Given the description of an element on the screen output the (x, y) to click on. 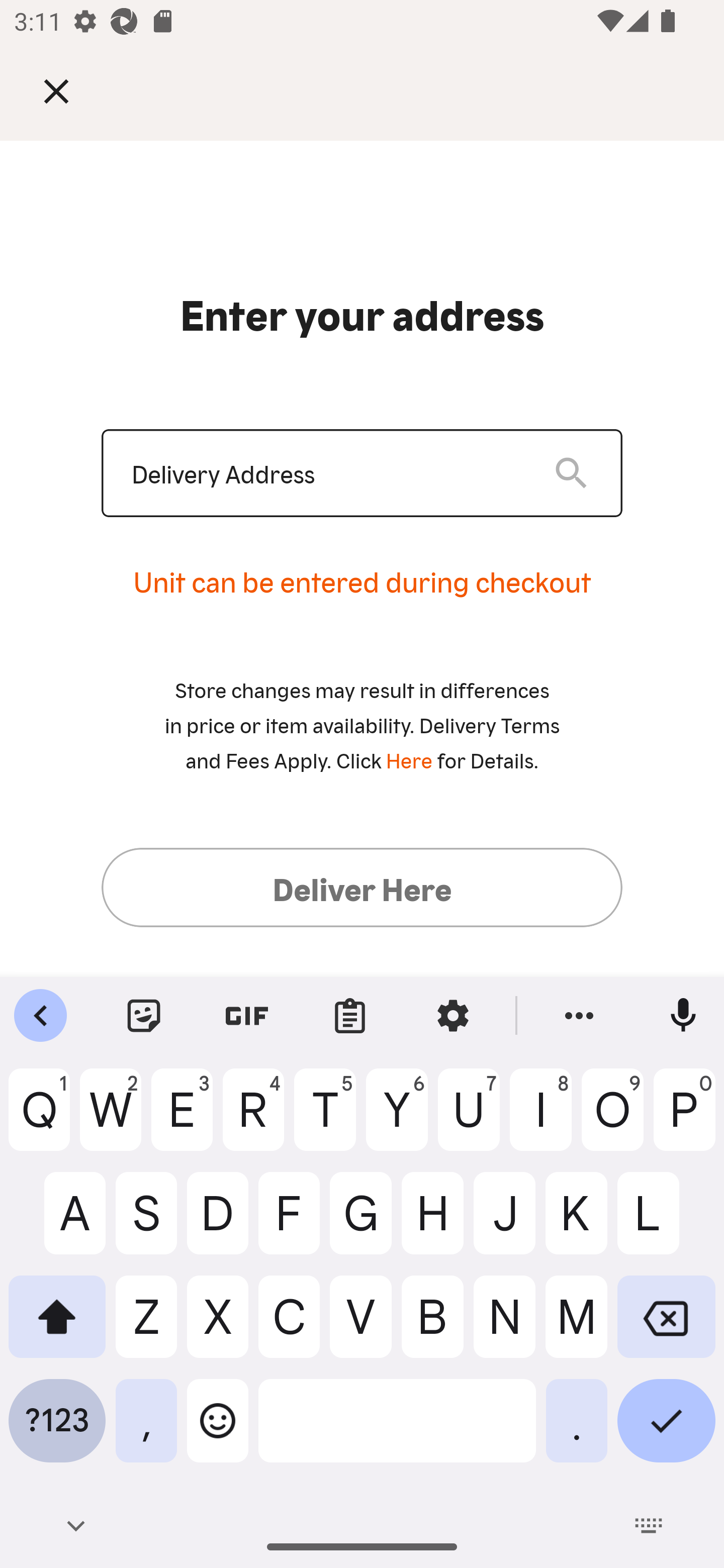
 (70, 90)
Delivery Address (326, 473)
Deliver Here (361, 887)
